Given the description of an element on the screen output the (x, y) to click on. 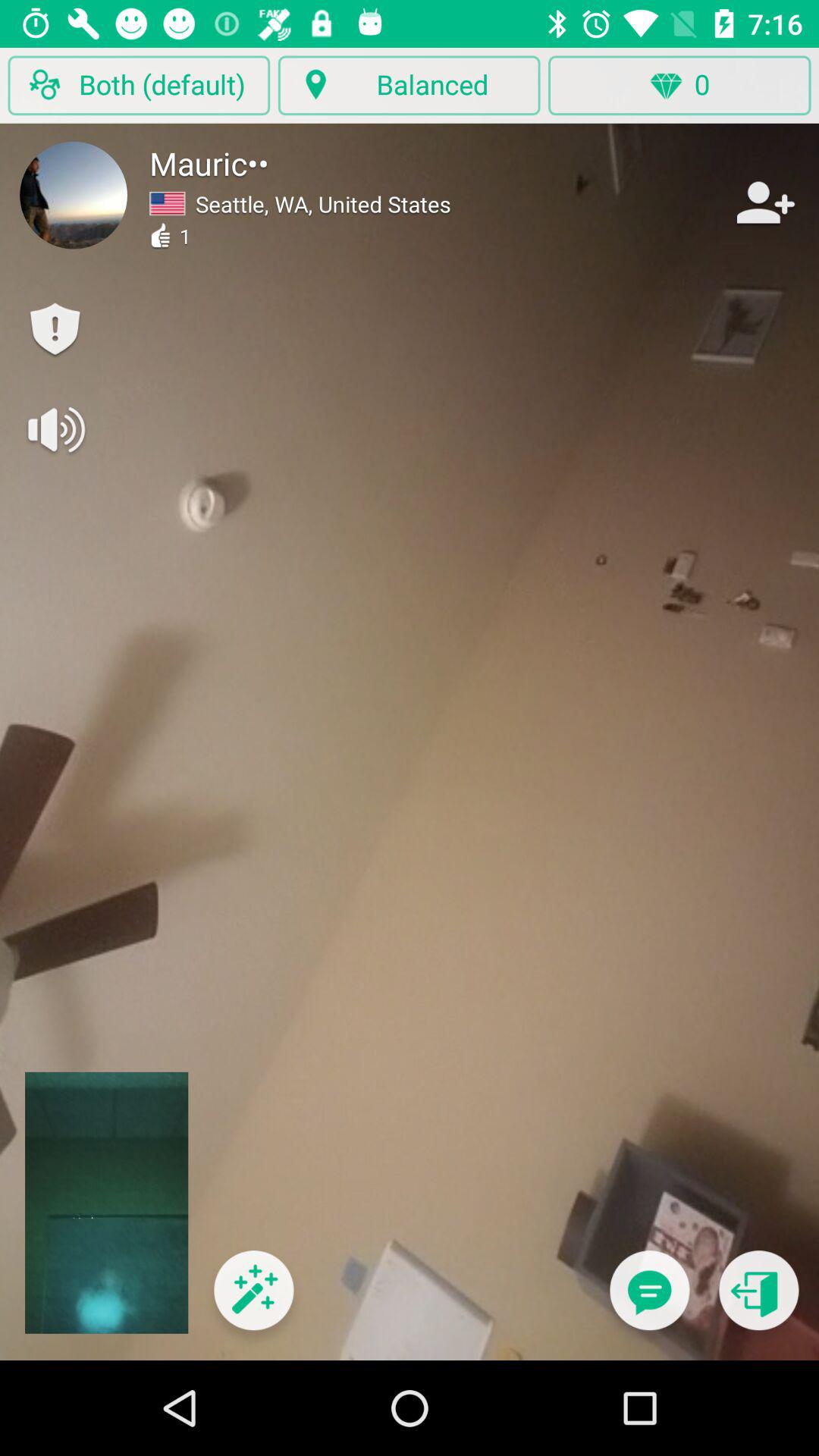
click here to mute/turn off sound (55, 429)
